Given the description of an element on the screen output the (x, y) to click on. 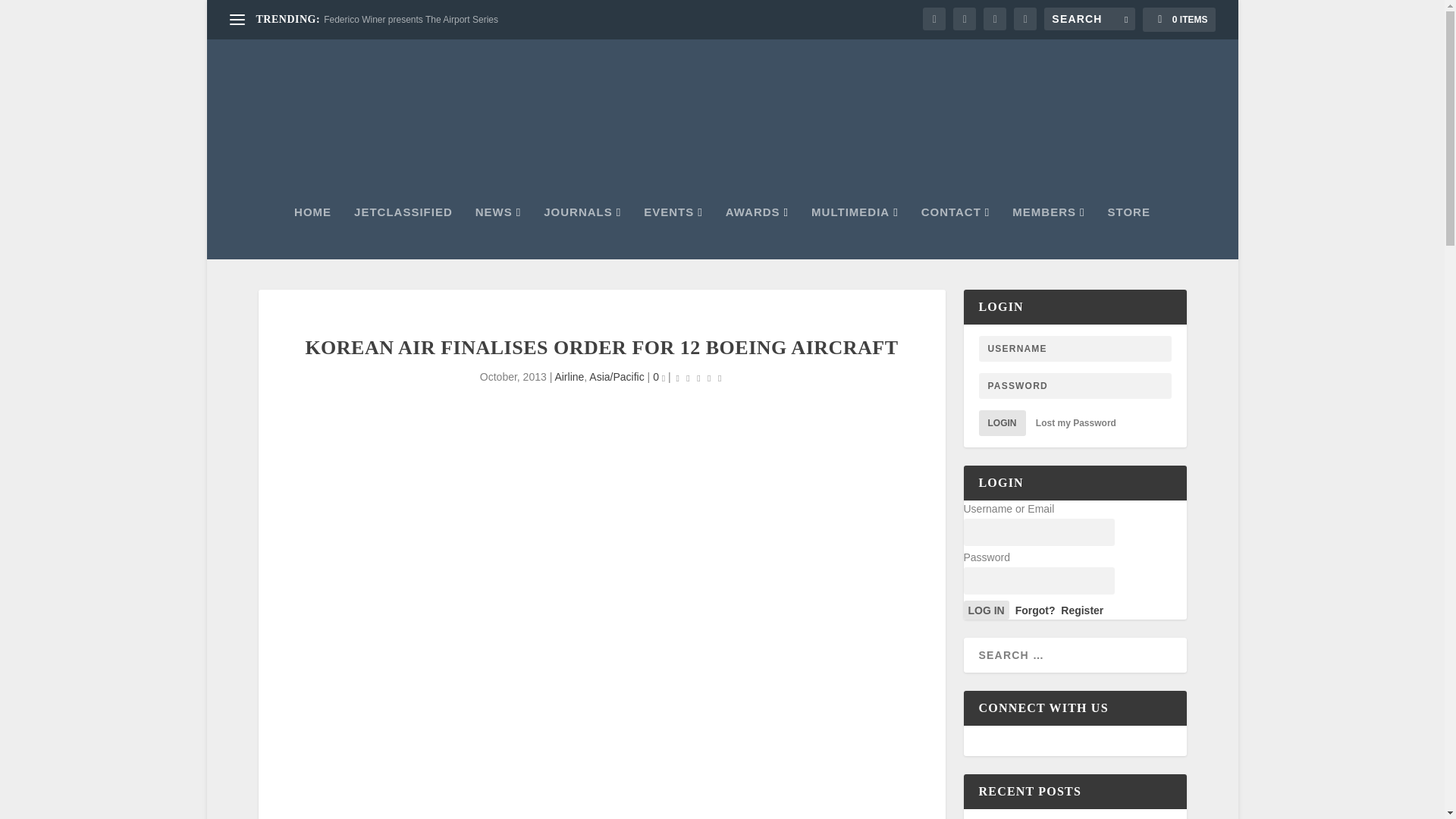
log in (985, 609)
JETCLASSIFIED (402, 232)
Federico Winer presents The Airport Series (410, 19)
Rating: 0.00 (698, 377)
JOURNALS (582, 232)
